Given the description of an element on the screen output the (x, y) to click on. 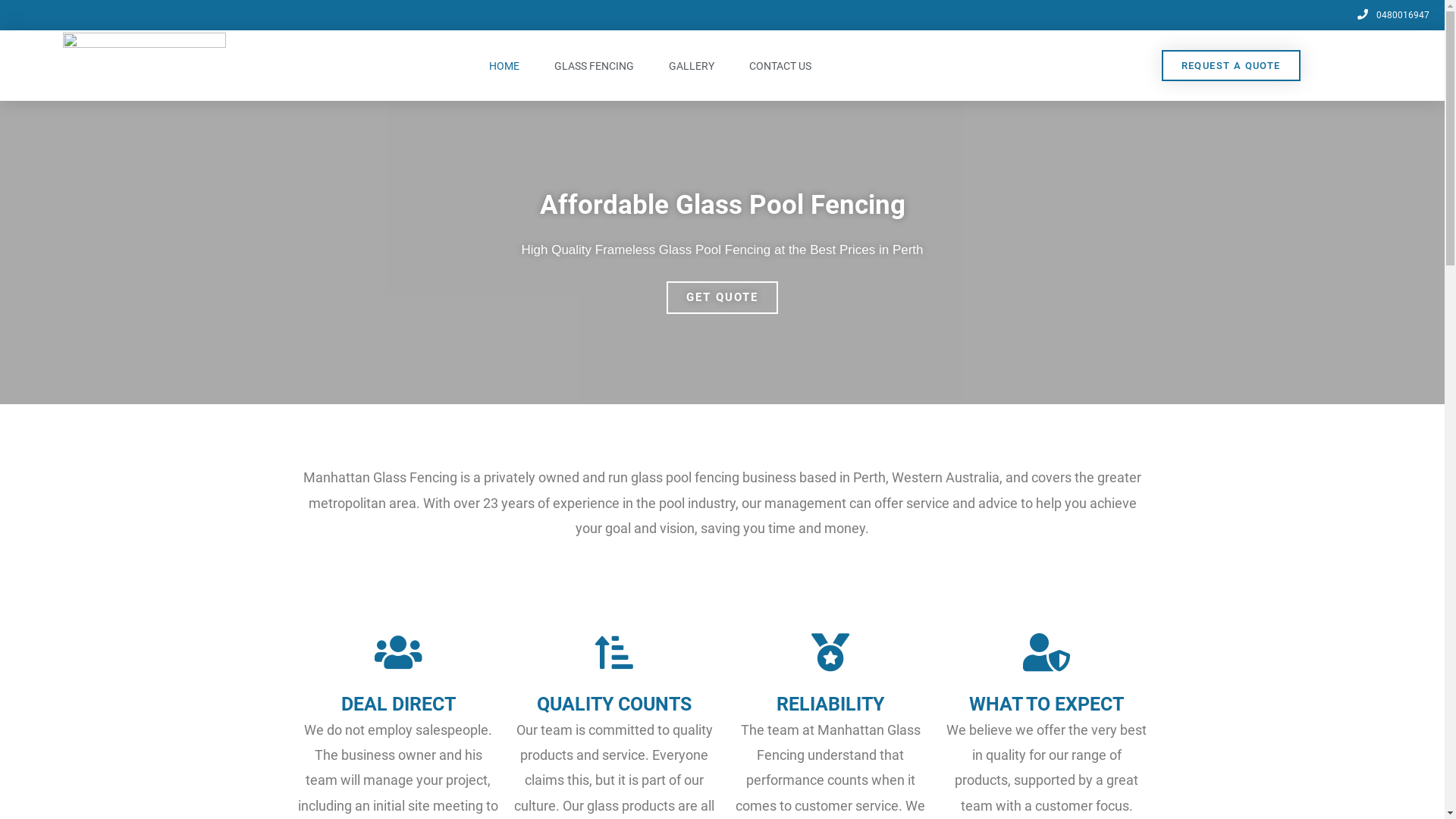
GLASS FENCING Element type: text (594, 65)
0480016947 Element type: text (1391, 14)
CONTACT US Element type: text (780, 65)
REQUEST A QUOTE Element type: text (1230, 65)
HOME Element type: text (503, 65)
GALLERY Element type: text (691, 65)
